Given the description of an element on the screen output the (x, y) to click on. 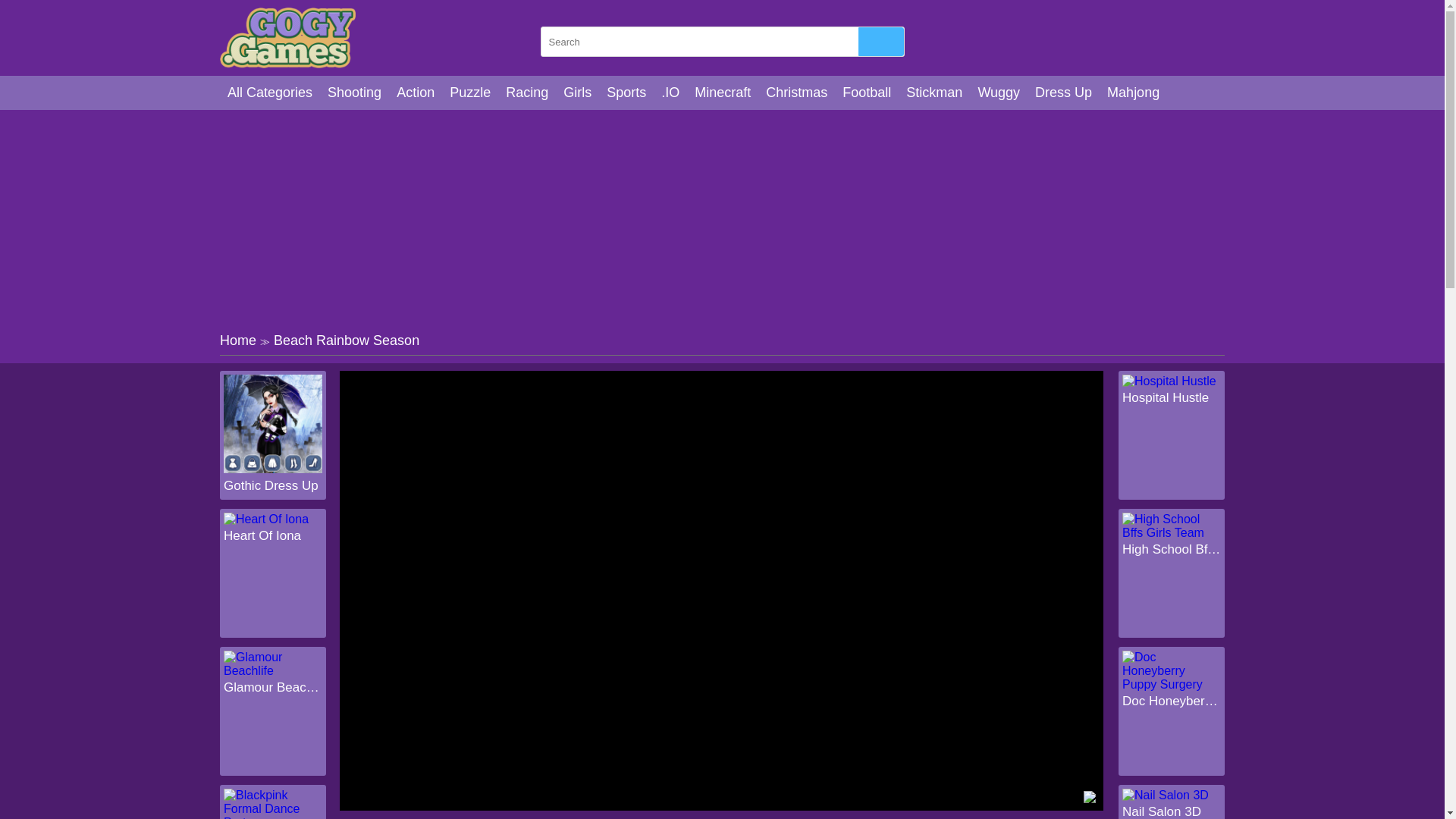
Football (866, 92)
.IO (670, 92)
Shooting (354, 92)
Shooting (354, 92)
.IO (670, 92)
All Categories (269, 92)
Doc Honeyberry Puppy Surgery (1171, 701)
Mahjong (1133, 92)
Gothic Dress Up (272, 485)
Christmas (796, 92)
